Given the description of an element on the screen output the (x, y) to click on. 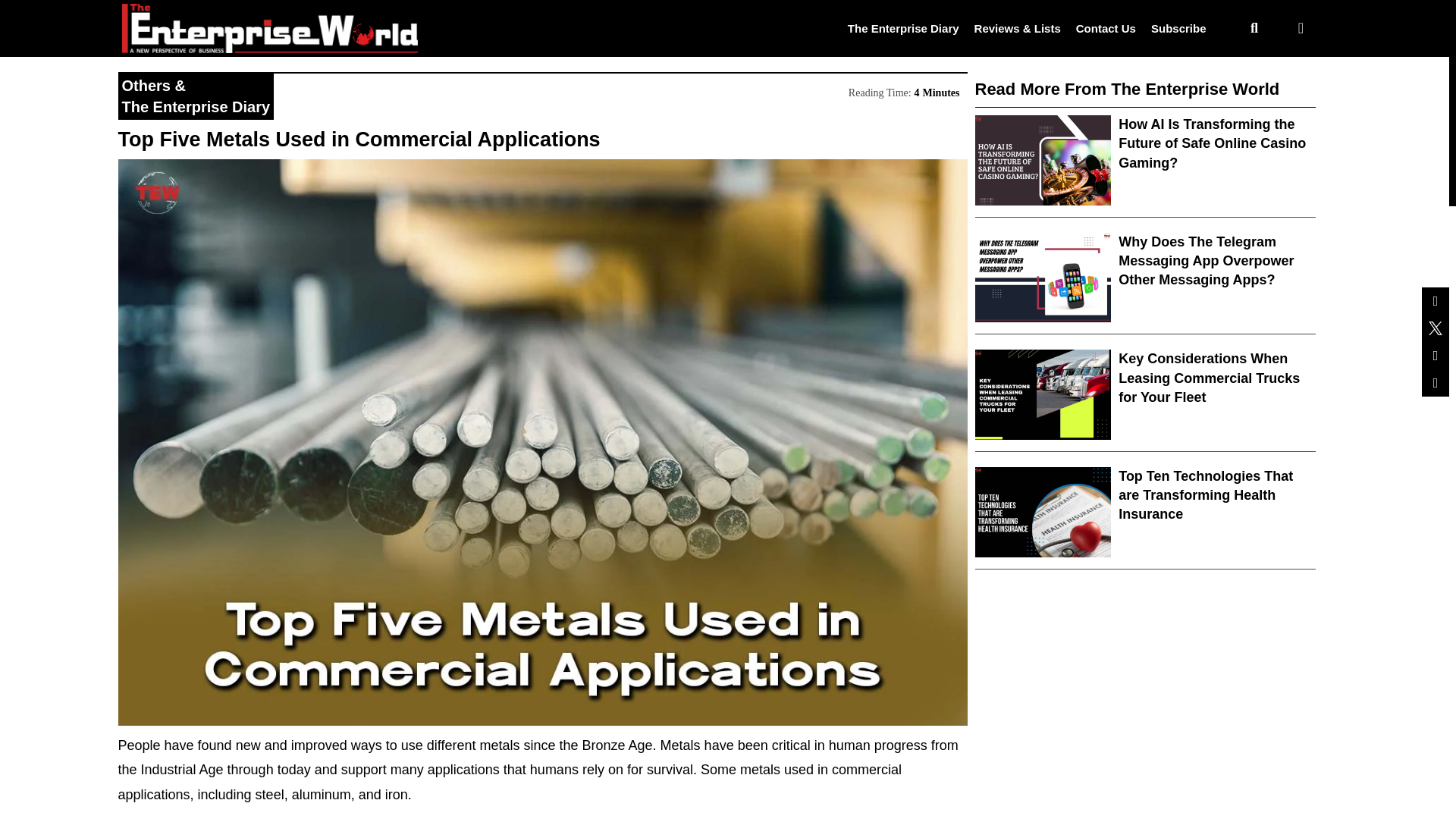
The Enterprise Diary (903, 28)
Top Ten Technologies That are Transforming Health Insurance  (1205, 494)
Subscribe (1179, 28)
The Enterprise Diary (194, 106)
Contact Us (1105, 28)
Others (145, 85)
